Given the description of an element on the screen output the (x, y) to click on. 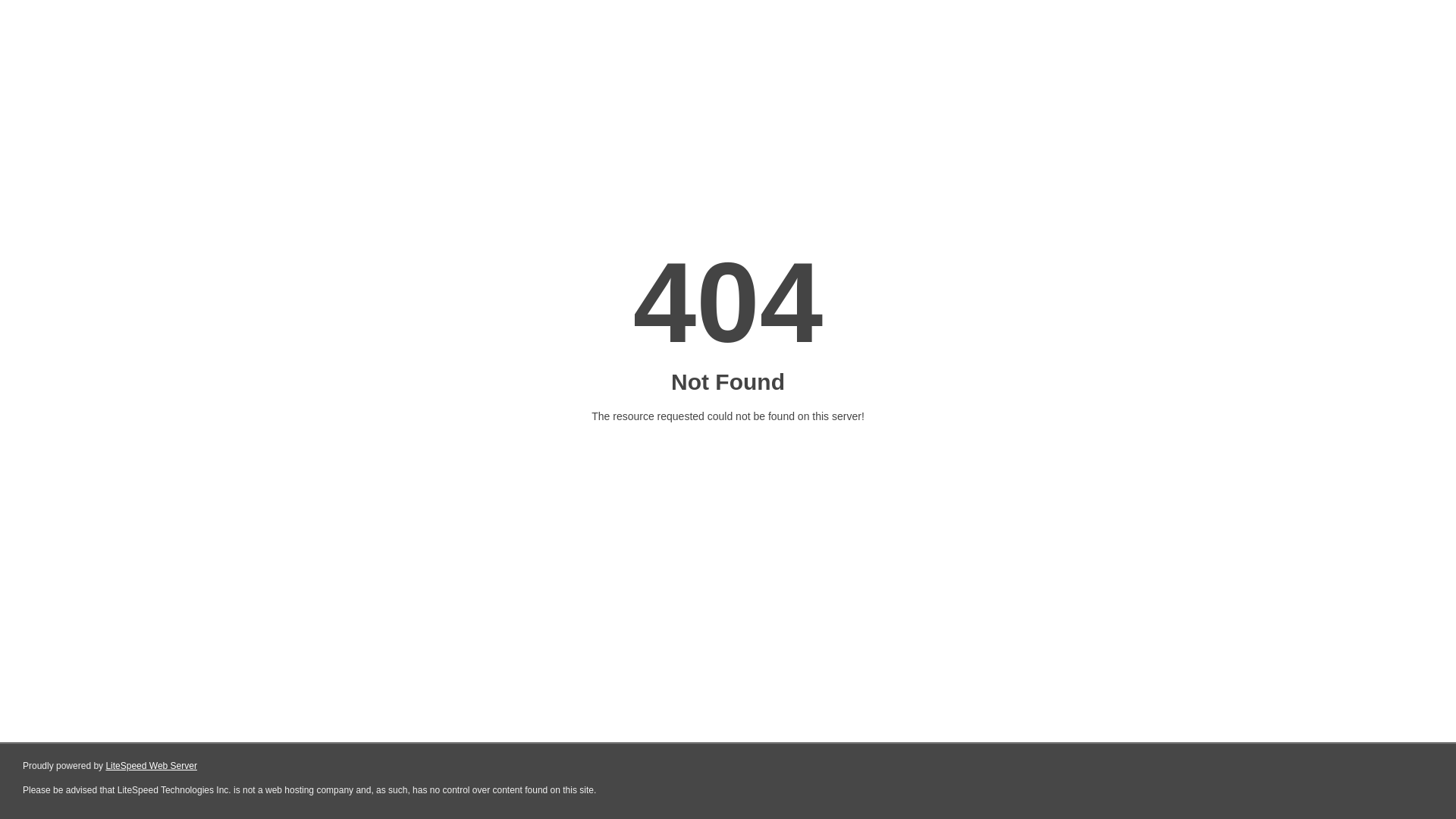
LiteSpeed Web Server Element type: text (151, 765)
